Given the description of an element on the screen output the (x, y) to click on. 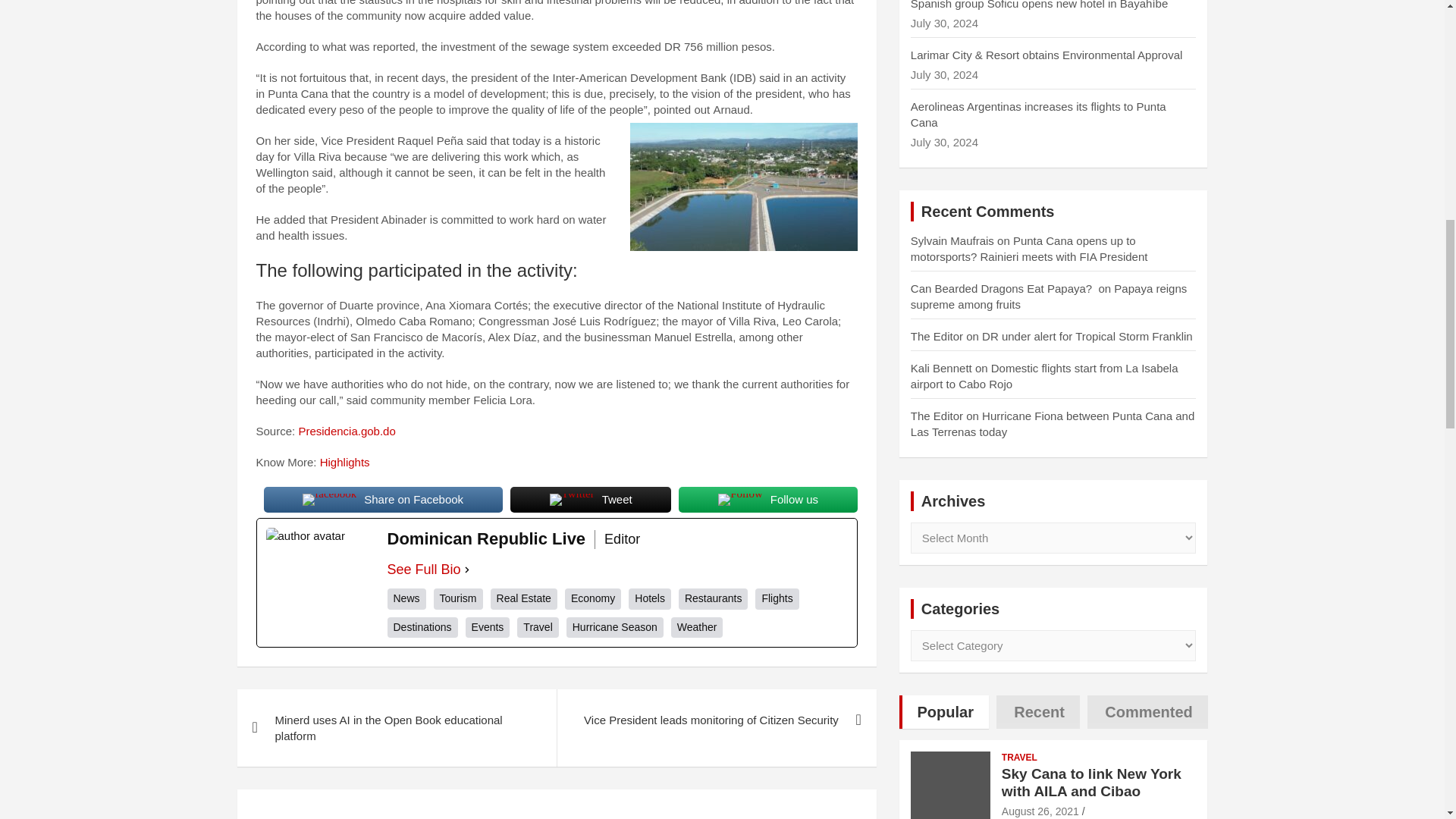
Highlights (344, 461)
See Full Bio (423, 569)
Minerd uses AI in the Open Book educational platform (395, 727)
Tweet (591, 499)
Sistema Cloacal Villa Riva - DOMINICAN REPUBLIC LIVE (743, 186)
Sky Cana to link New York with AILA and Cibao (1039, 811)
Follow us (767, 499)
Presidencia.gob.do (346, 431)
Share on Facebook (382, 499)
Vice President leads monitoring of Citizen Security (716, 720)
